Given the description of an element on the screen output the (x, y) to click on. 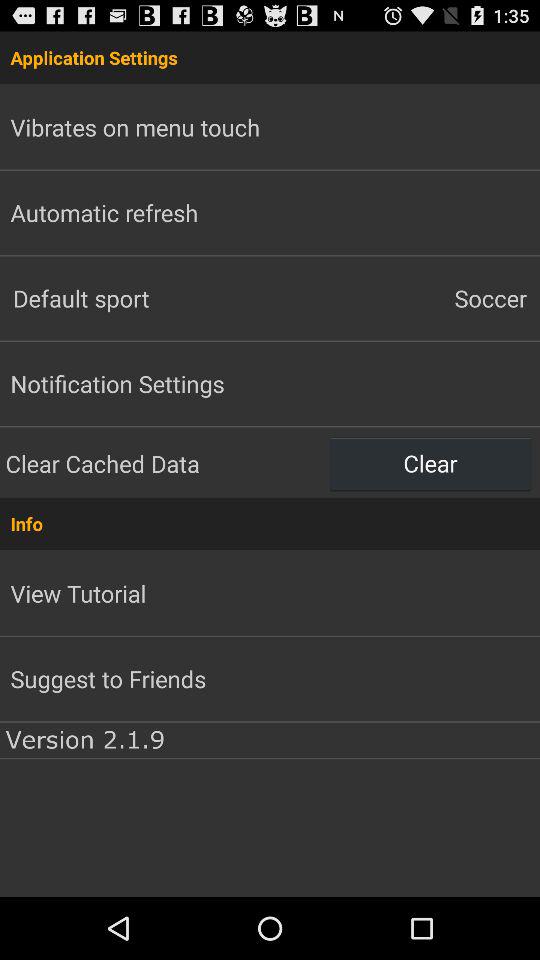
turn on the soccer icon (405, 298)
